Given the description of an element on the screen output the (x, y) to click on. 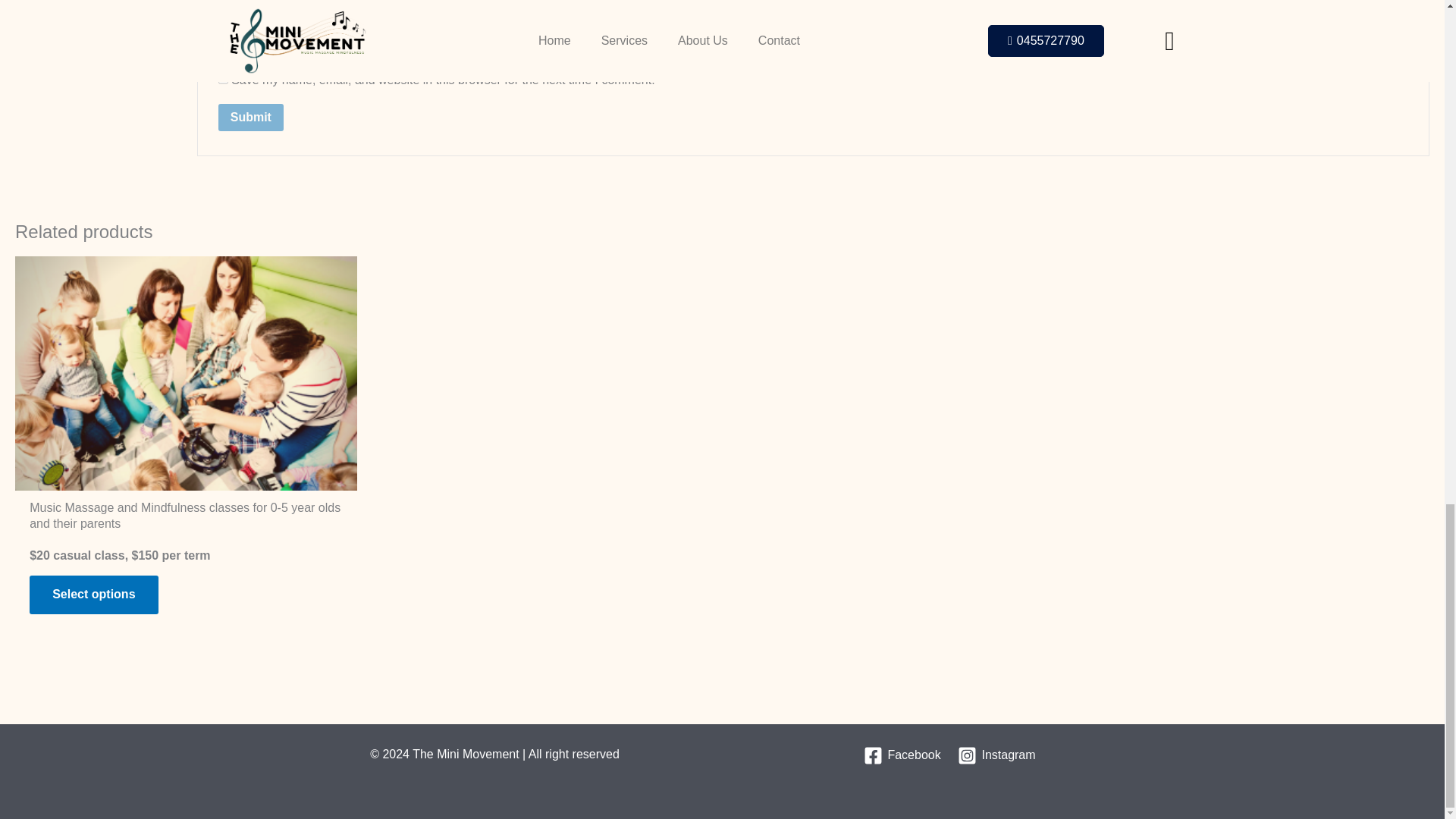
Select options (93, 594)
Submit (250, 117)
Submit (250, 117)
Instagram (997, 755)
Facebook (901, 755)
yes (223, 79)
